Given the description of an element on the screen output the (x, y) to click on. 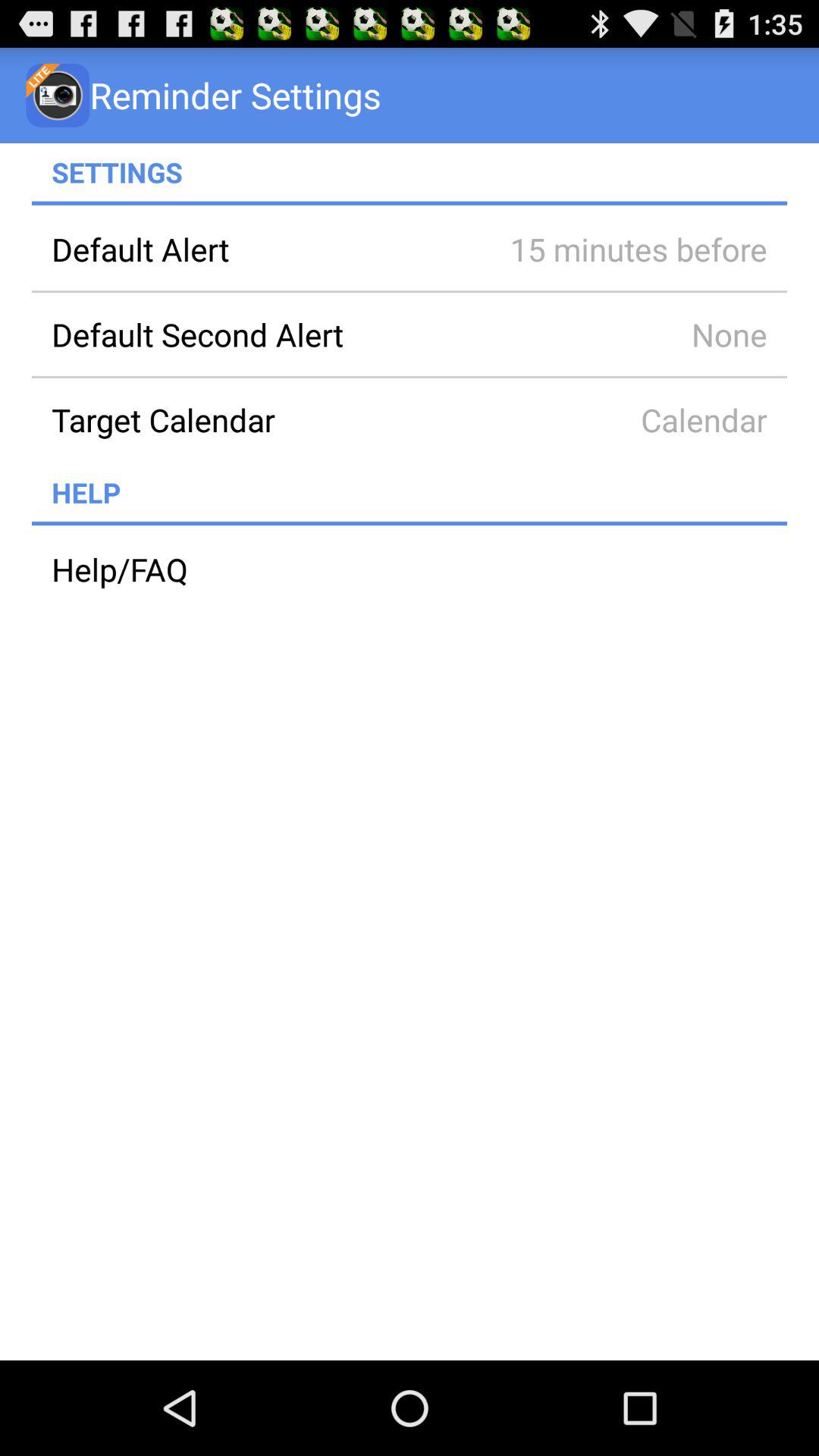
choose the item next to default alert app (617, 248)
